Given the description of an element on the screen output the (x, y) to click on. 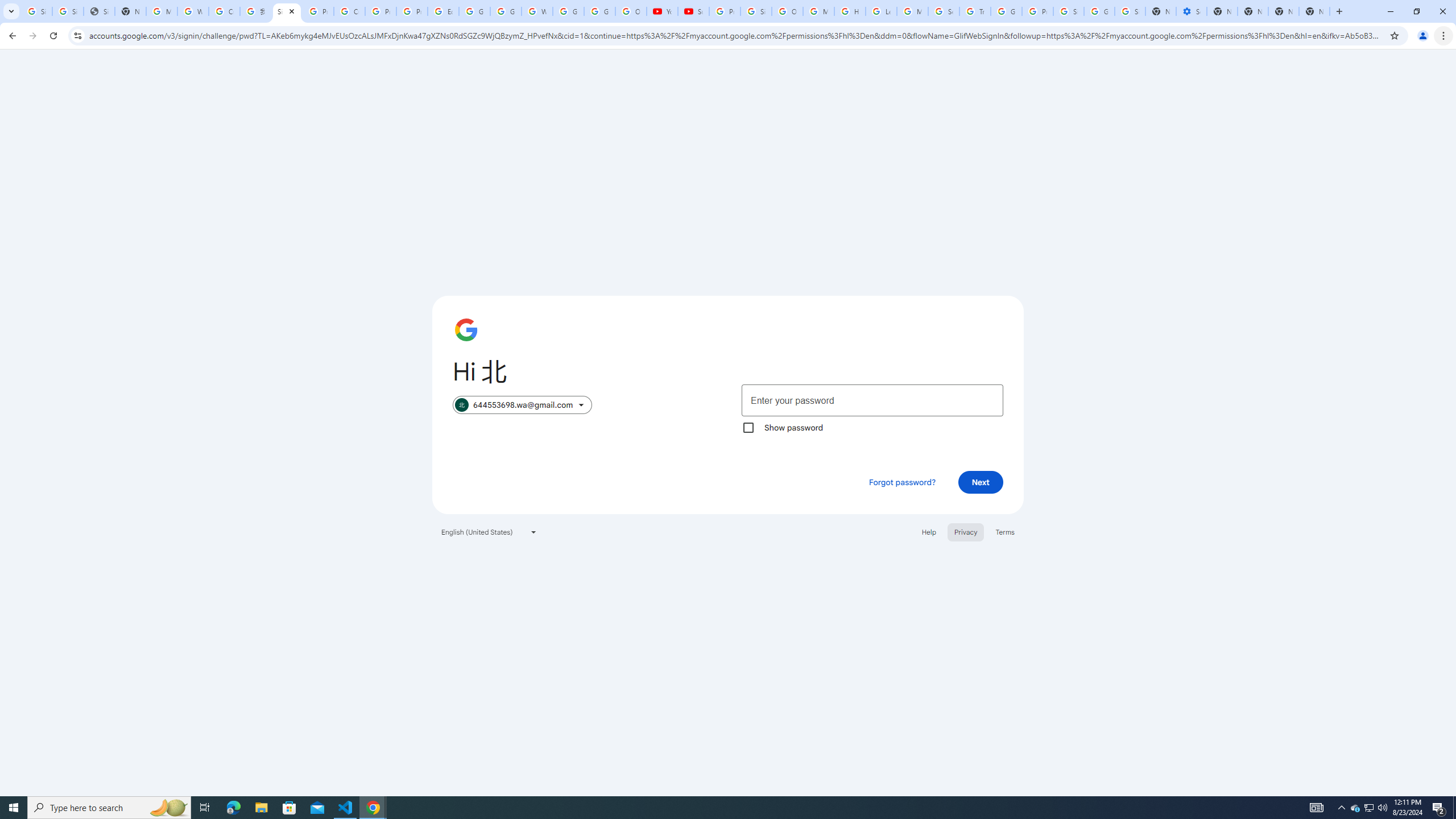
Create your Google Account (349, 11)
YouTube (662, 11)
Who is my administrator? - Google Account Help (192, 11)
Show password (748, 427)
New Tab (1314, 11)
